Given the description of an element on the screen output the (x, y) to click on. 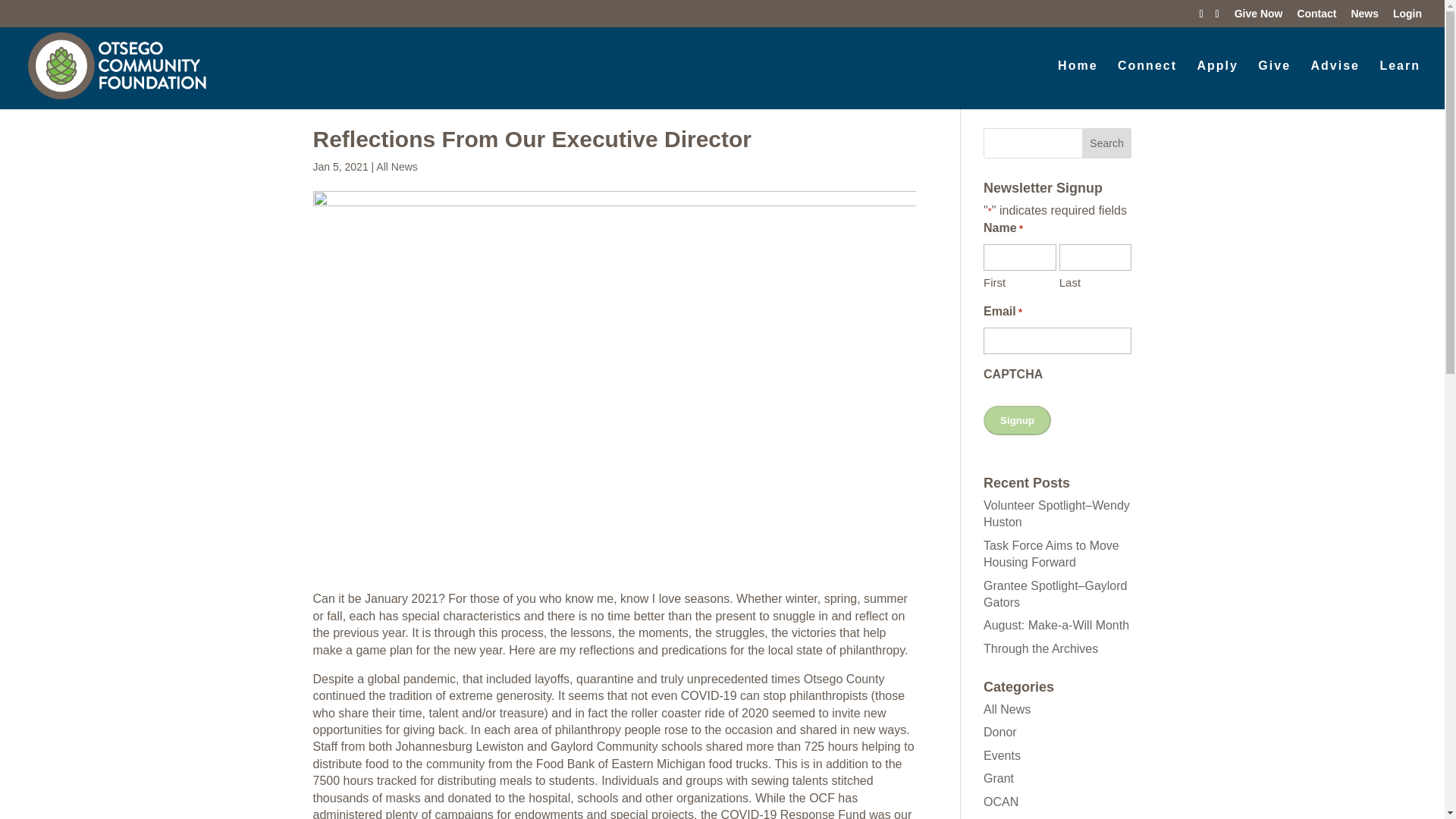
Contact (1316, 16)
Events (1002, 755)
Give Now (1258, 16)
All News (395, 166)
Connect (1147, 78)
All News (1007, 708)
August: Make-a-Will Month (1056, 625)
Task Force Aims to Move Housing Forward (1051, 553)
Scholarship (1015, 818)
News (1364, 16)
